Given the description of an element on the screen output the (x, y) to click on. 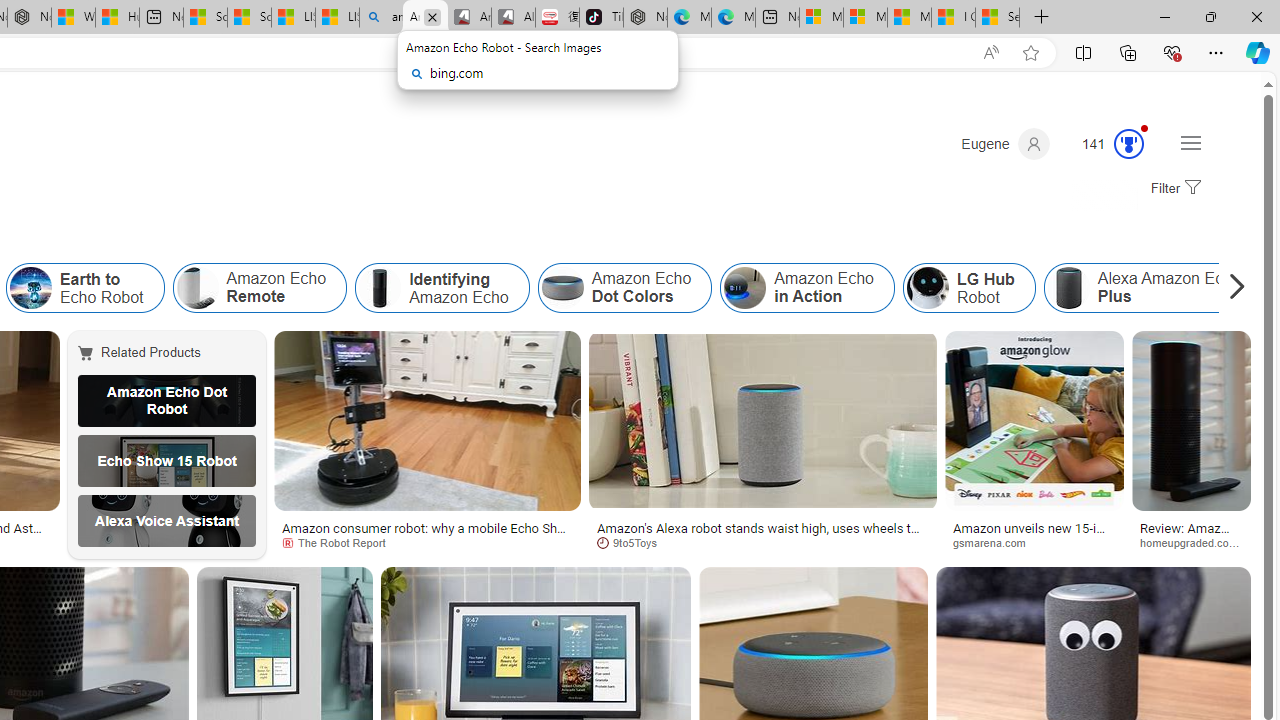
TikTok (601, 17)
Amazon Echo in Action (806, 287)
I Gained 20 Pounds of Muscle in 30 Days! | Watch (953, 17)
Amazon Echo Remote (197, 287)
